Given the description of an element on the screen output the (x, y) to click on. 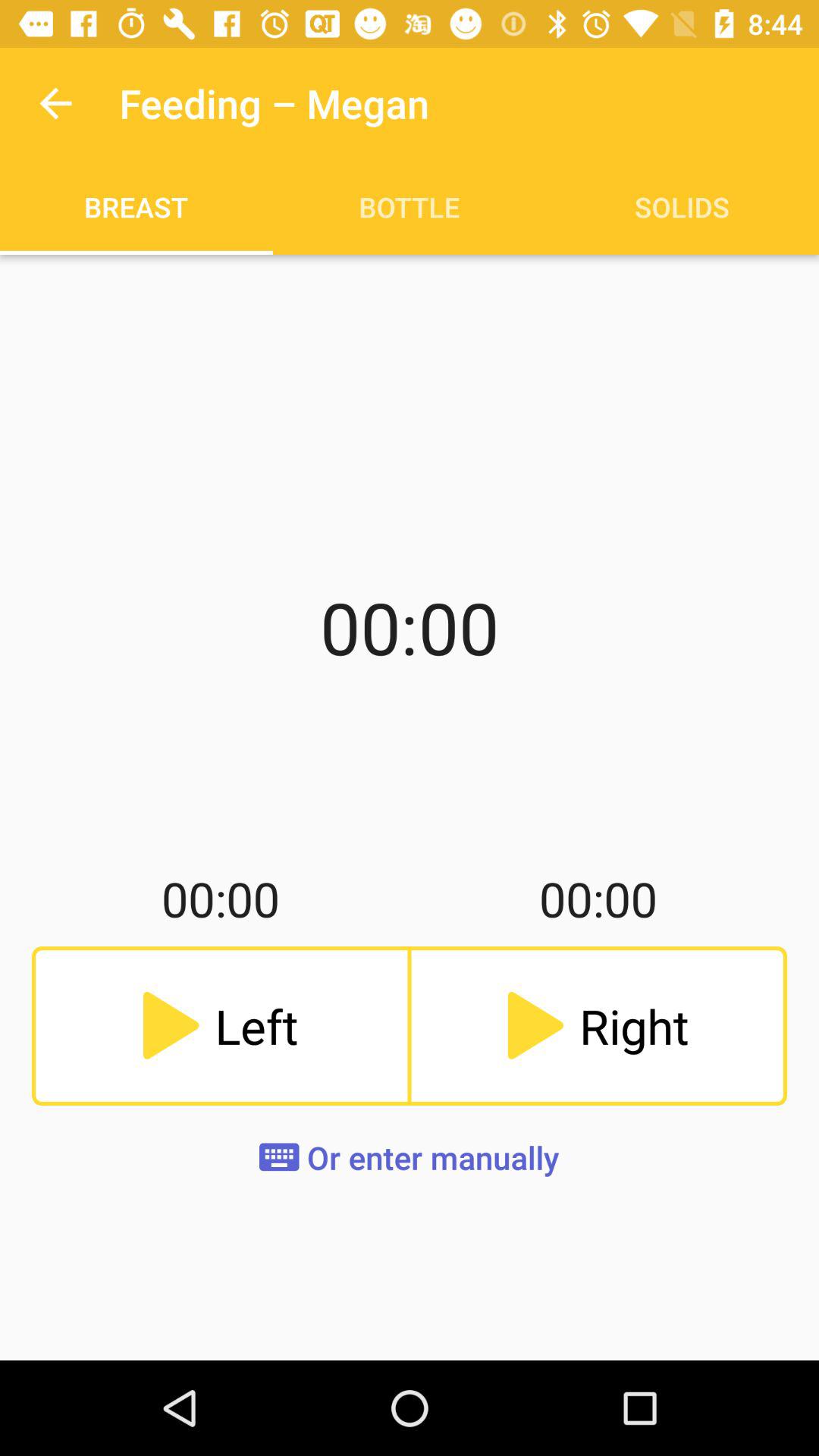
click the or enter manually (408, 1157)
